Given the description of an element on the screen output the (x, y) to click on. 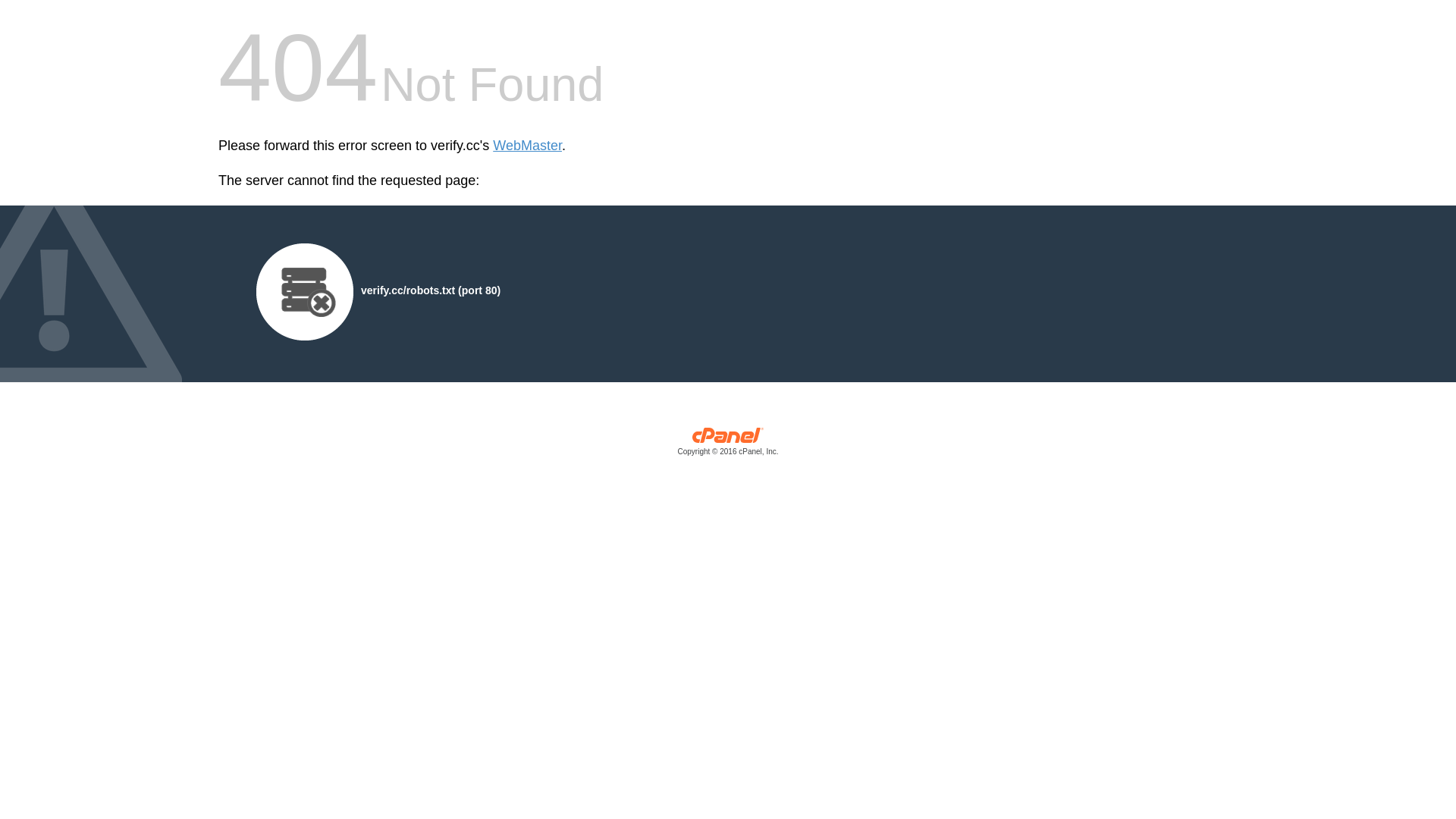
WebMaster Element type: text (526, 145)
